Given the description of an element on the screen output the (x, y) to click on. 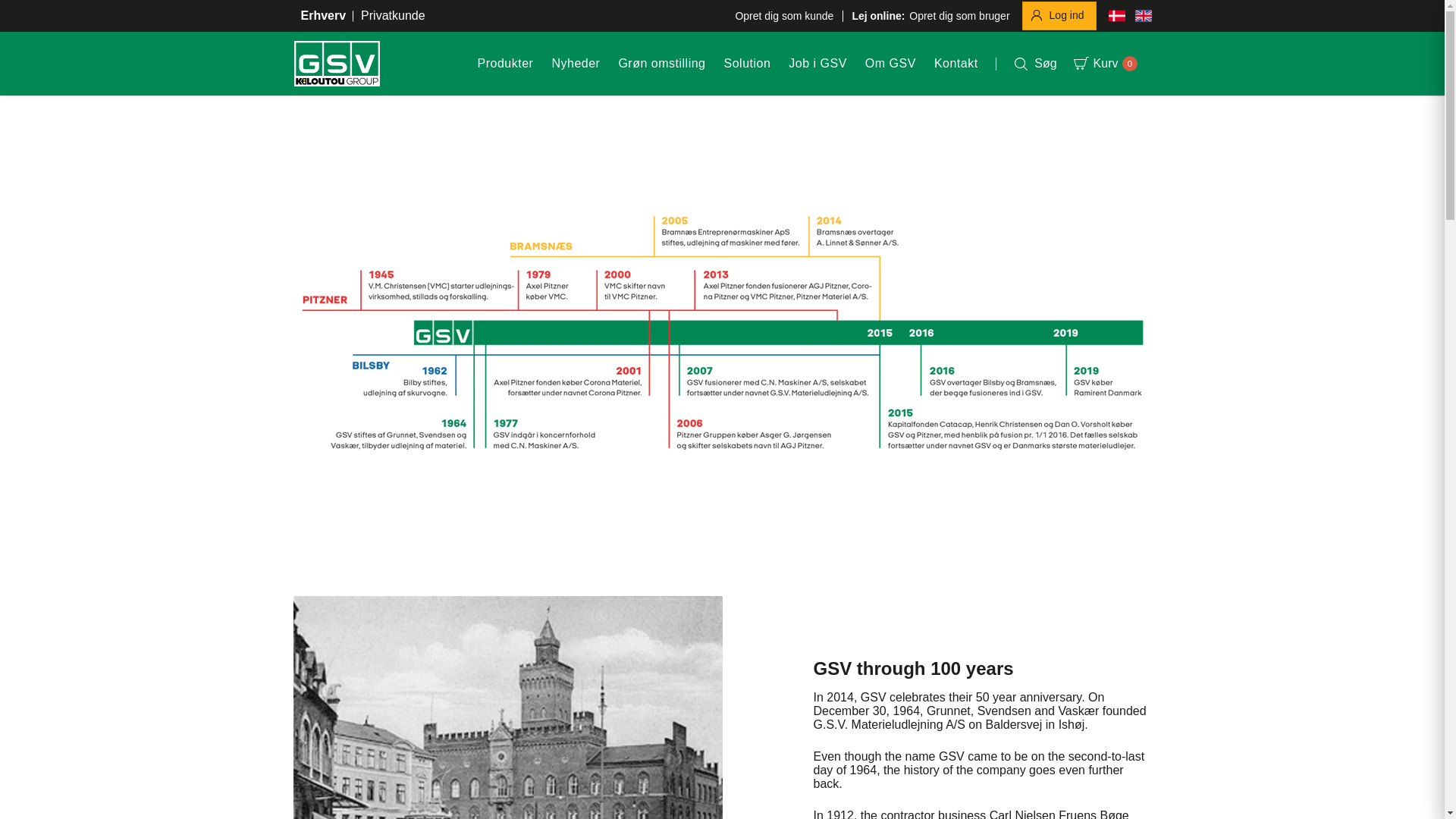
Opret dig som bruger (930, 15)
0 (1130, 63)
Opret dig som kunde (783, 15)
Odense-1912 (507, 707)
Log ind (1059, 15)
